Given the description of an element on the screen output the (x, y) to click on. 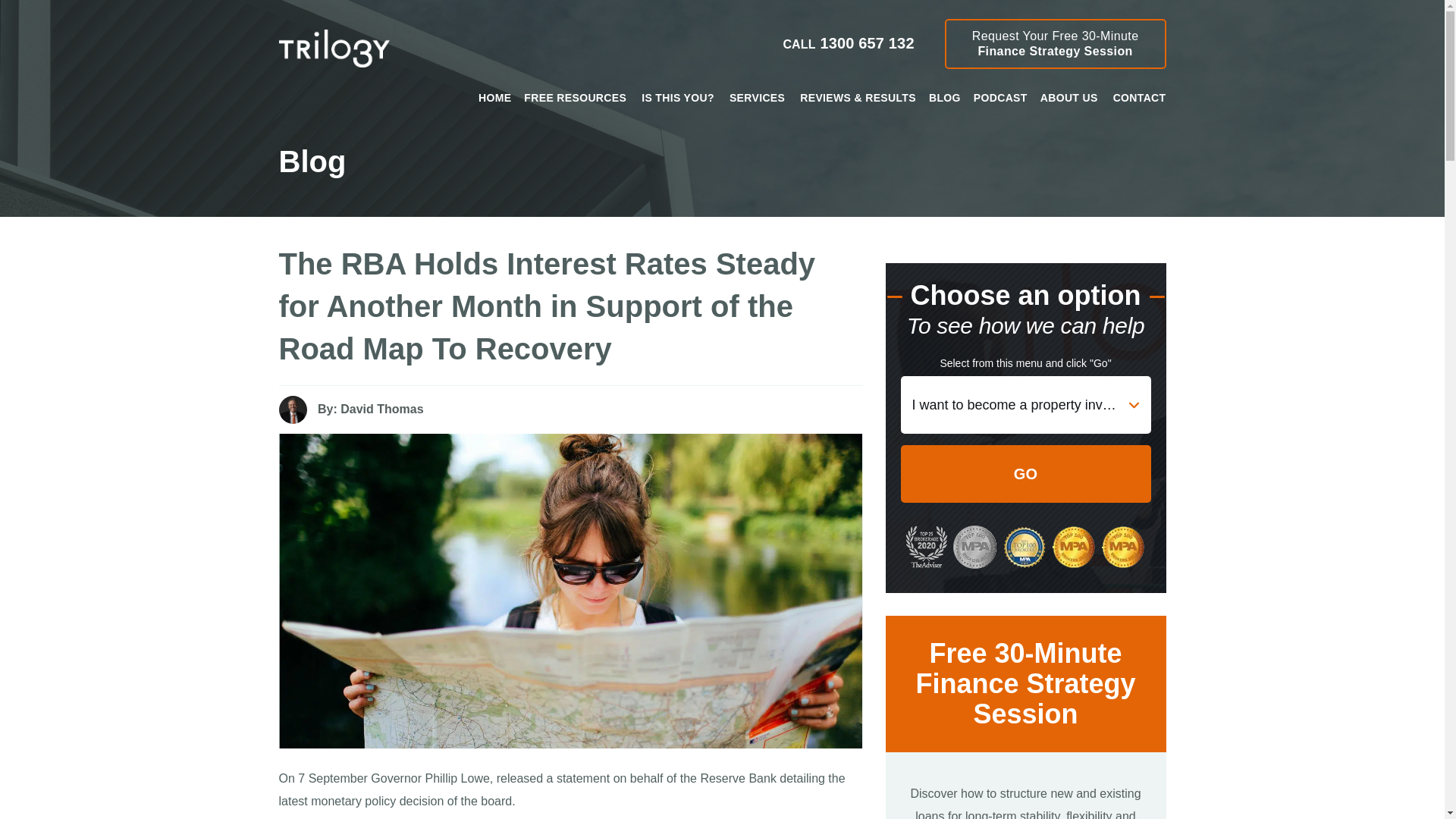
FREE RESOURCES (1055, 43)
HOME (575, 97)
CALL 1300 657 132 (495, 97)
